Given the description of an element on the screen output the (x, y) to click on. 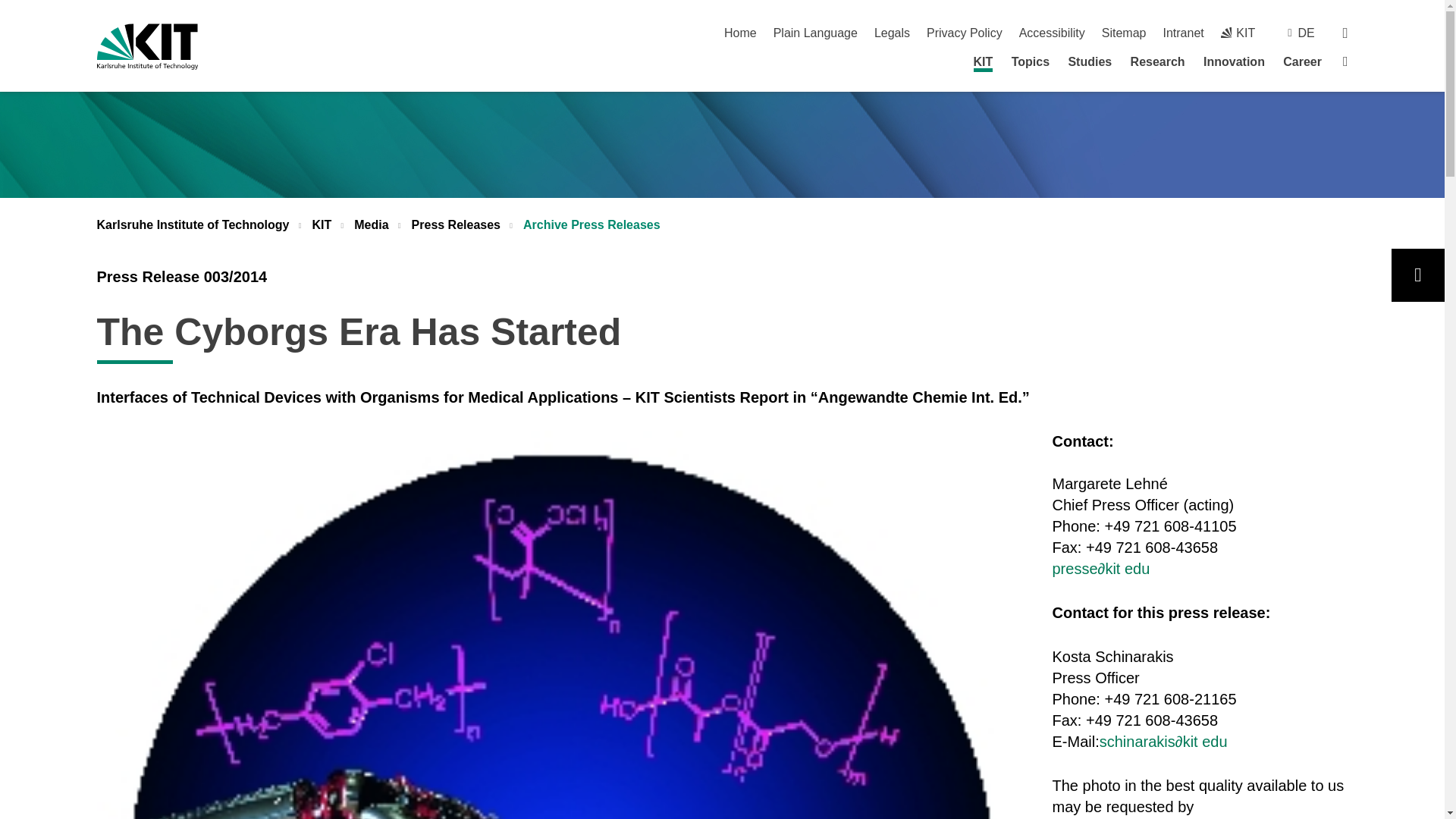
Intranet (1182, 32)
KIT (1238, 32)
KIT-Homepage (1238, 32)
Legals (892, 32)
Privacy Policy (964, 32)
KIT (983, 63)
DE (1305, 32)
KIT-Homepage (147, 46)
Accessibility (1051, 32)
Home (740, 32)
